Given the description of an element on the screen output the (x, y) to click on. 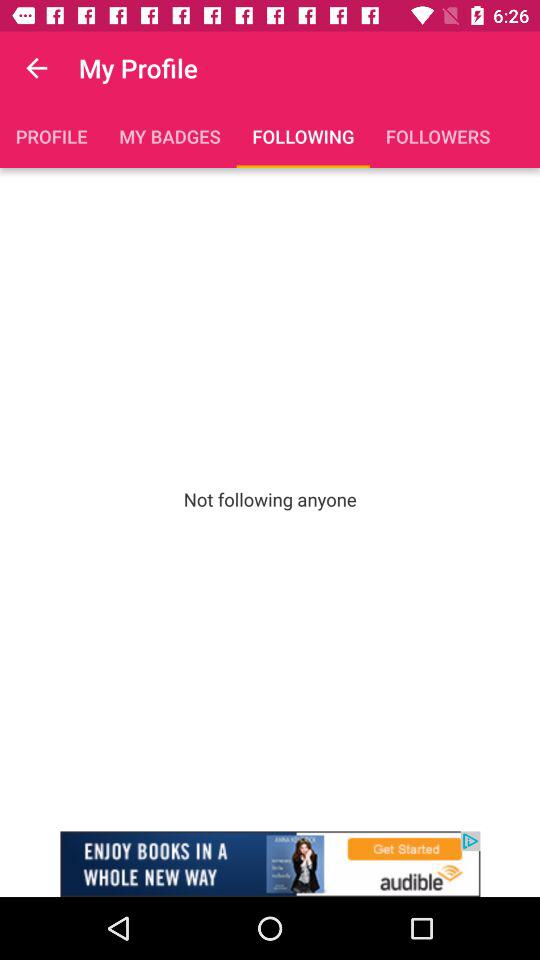
go to advertisement (270, 864)
